Given the description of an element on the screen output the (x, y) to click on. 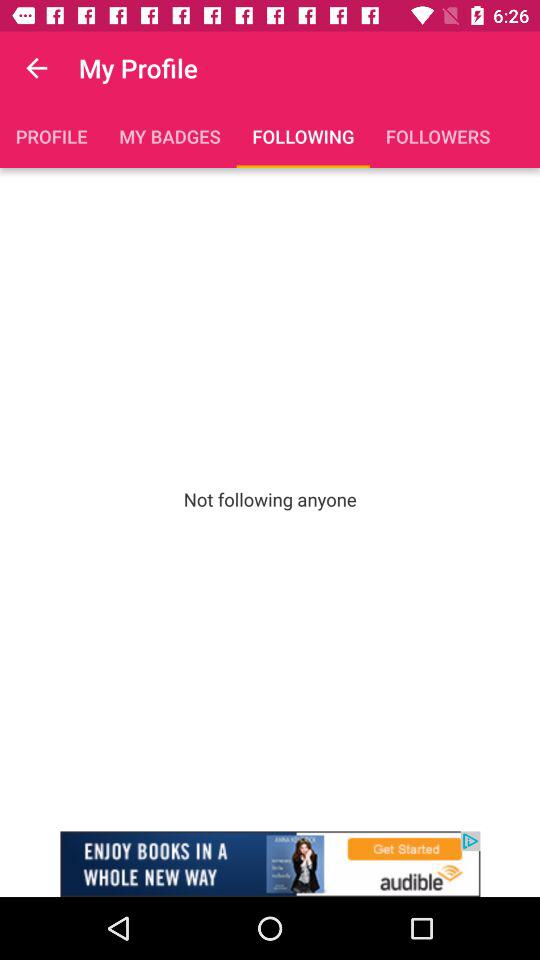
go to advertisement (270, 864)
